Given the description of an element on the screen output the (x, y) to click on. 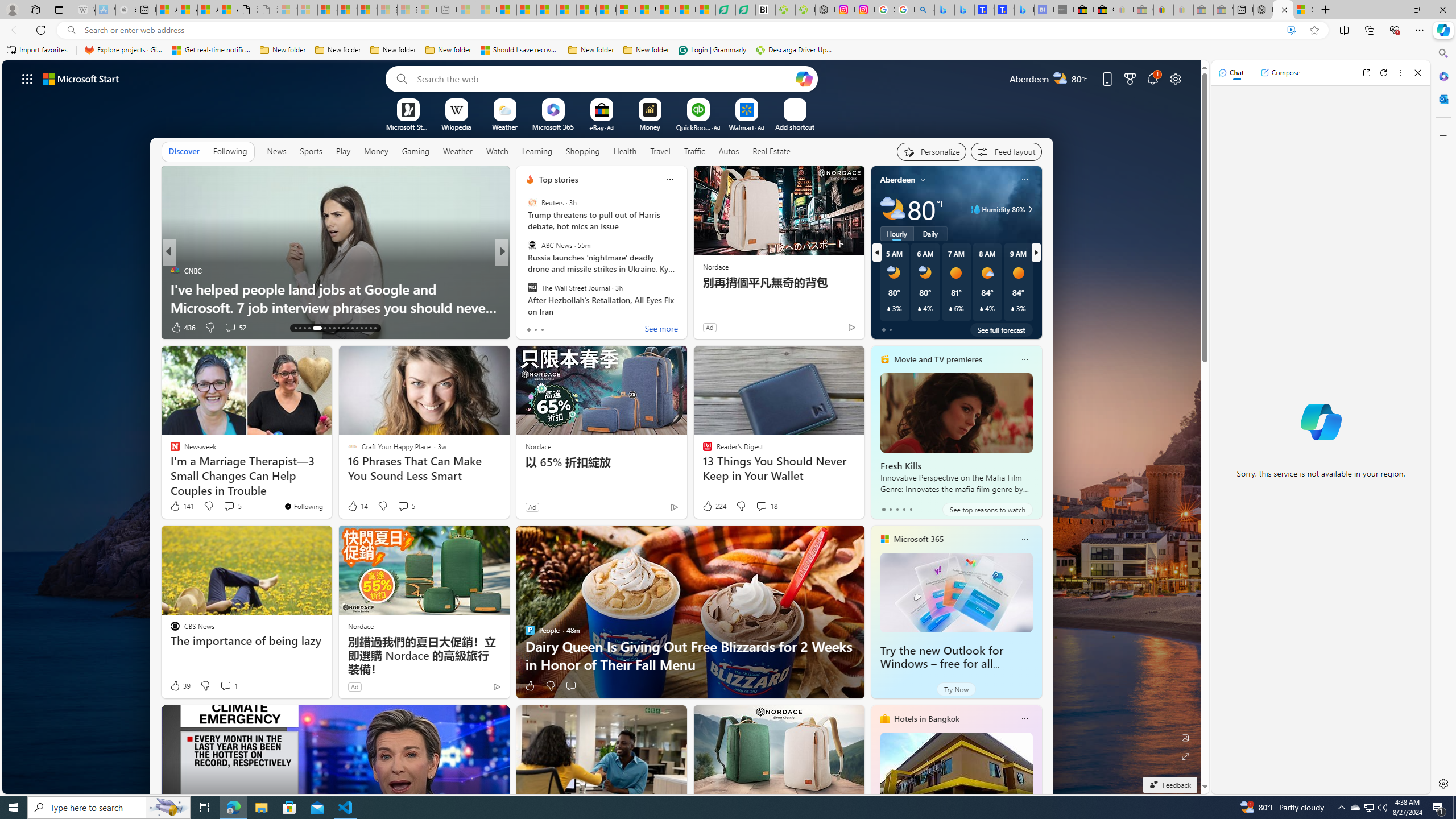
LendingTree - Compare Lenders (745, 9)
View comments 70 Comment (585, 327)
Press Room - eBay Inc. - Sleeping (1203, 9)
Threats and offensive language policy | eBay (1162, 9)
Hotels in Bangkok (926, 718)
View comments 325 Comment (580, 327)
